Given the description of an element on the screen output the (x, y) to click on. 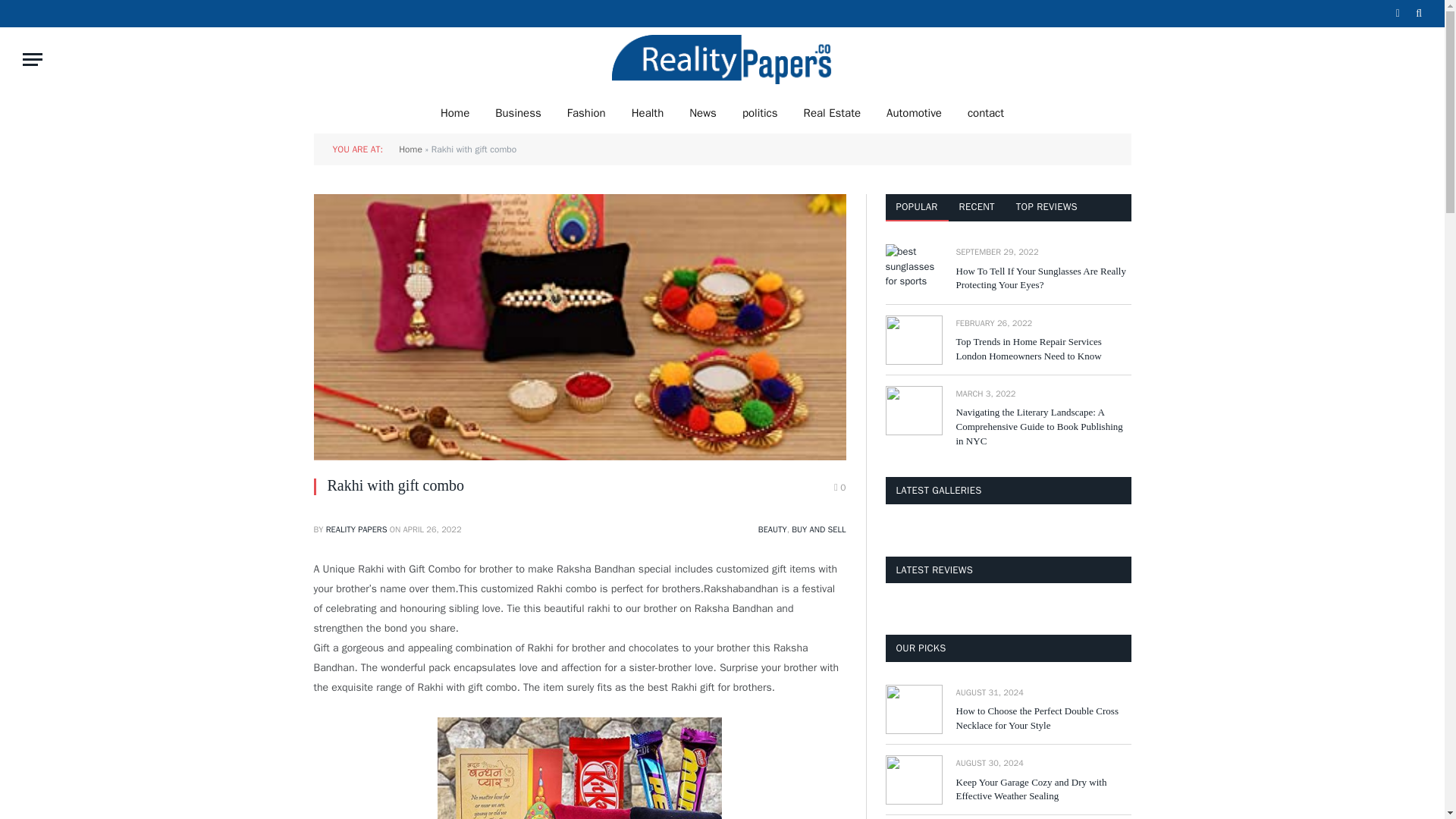
Home (410, 149)
contact (985, 112)
politics (759, 112)
Business (517, 112)
Automotive (914, 112)
REALITY PAPERS (356, 529)
Reality Papers (721, 59)
BEAUTY (772, 529)
2022-04-26 (432, 529)
